Given the description of an element on the screen output the (x, y) to click on. 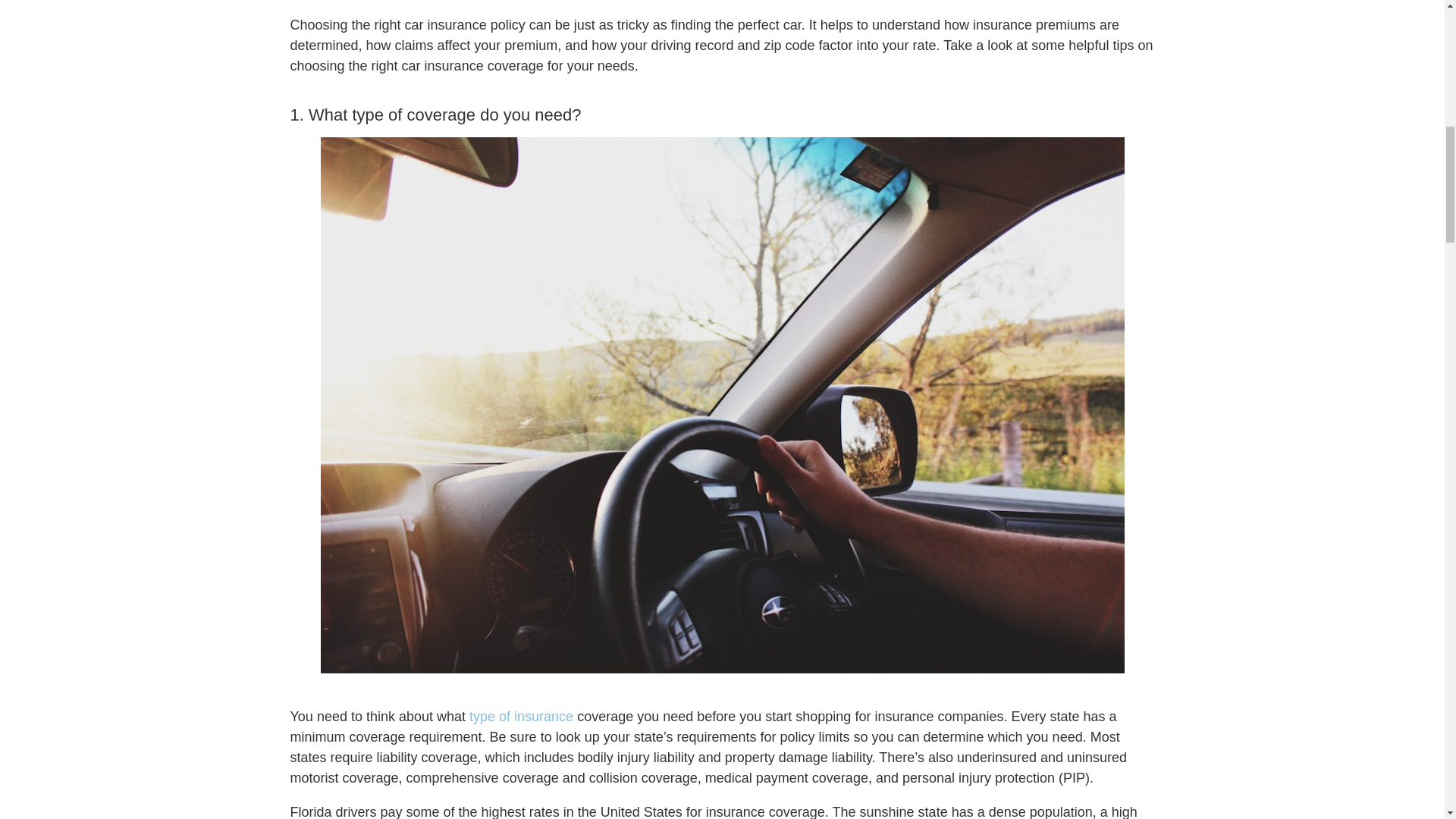
type of insurance (520, 716)
